Given the description of an element on the screen output the (x, y) to click on. 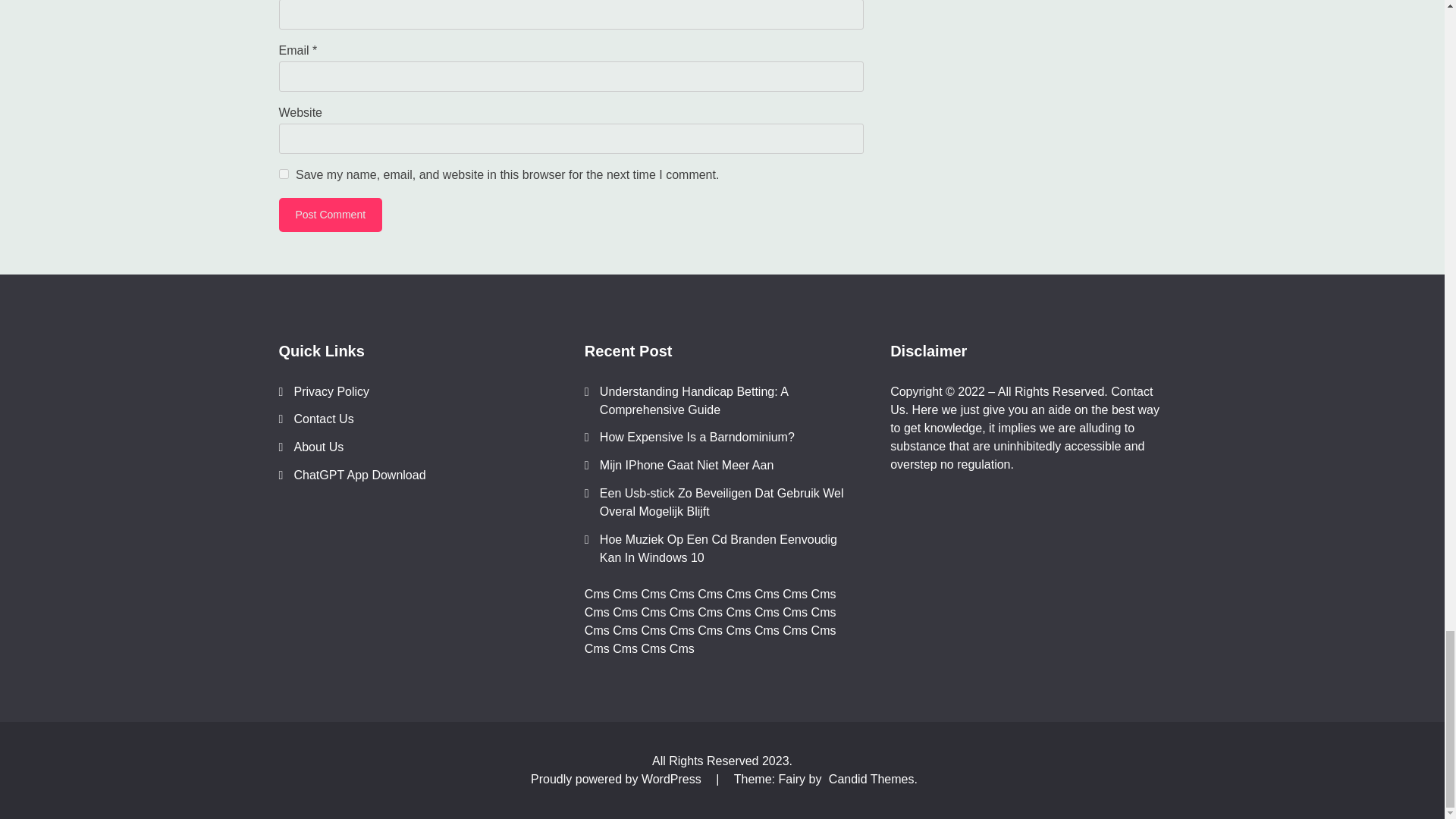
Post Comment (330, 213)
yes (283, 173)
